Given the description of an element on the screen output the (x, y) to click on. 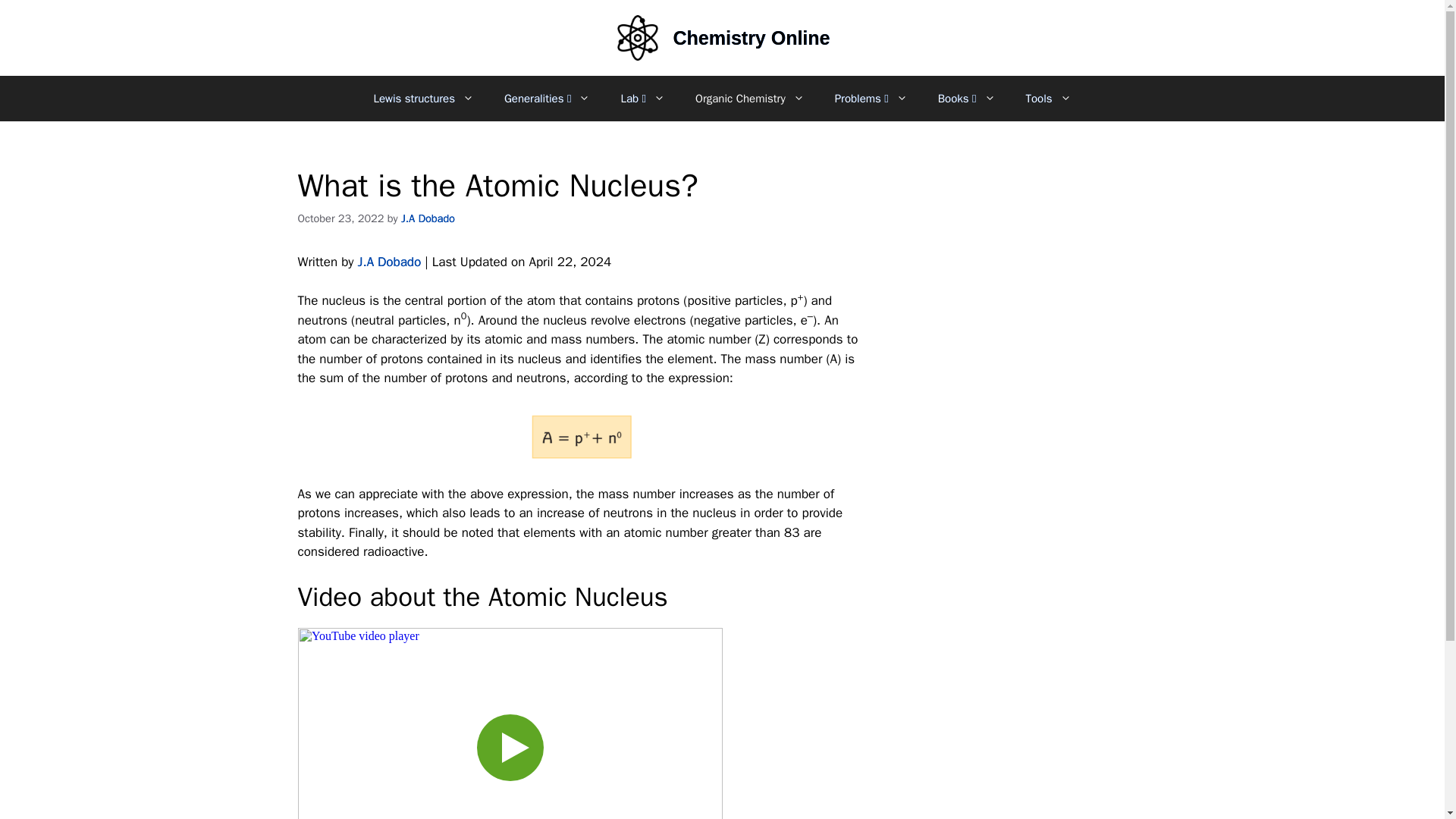
Lewis structures (423, 98)
View all posts by J.A Dobado (427, 218)
YouTube video player (509, 723)
Chemistry Online (750, 37)
